Given the description of an element on the screen output the (x, y) to click on. 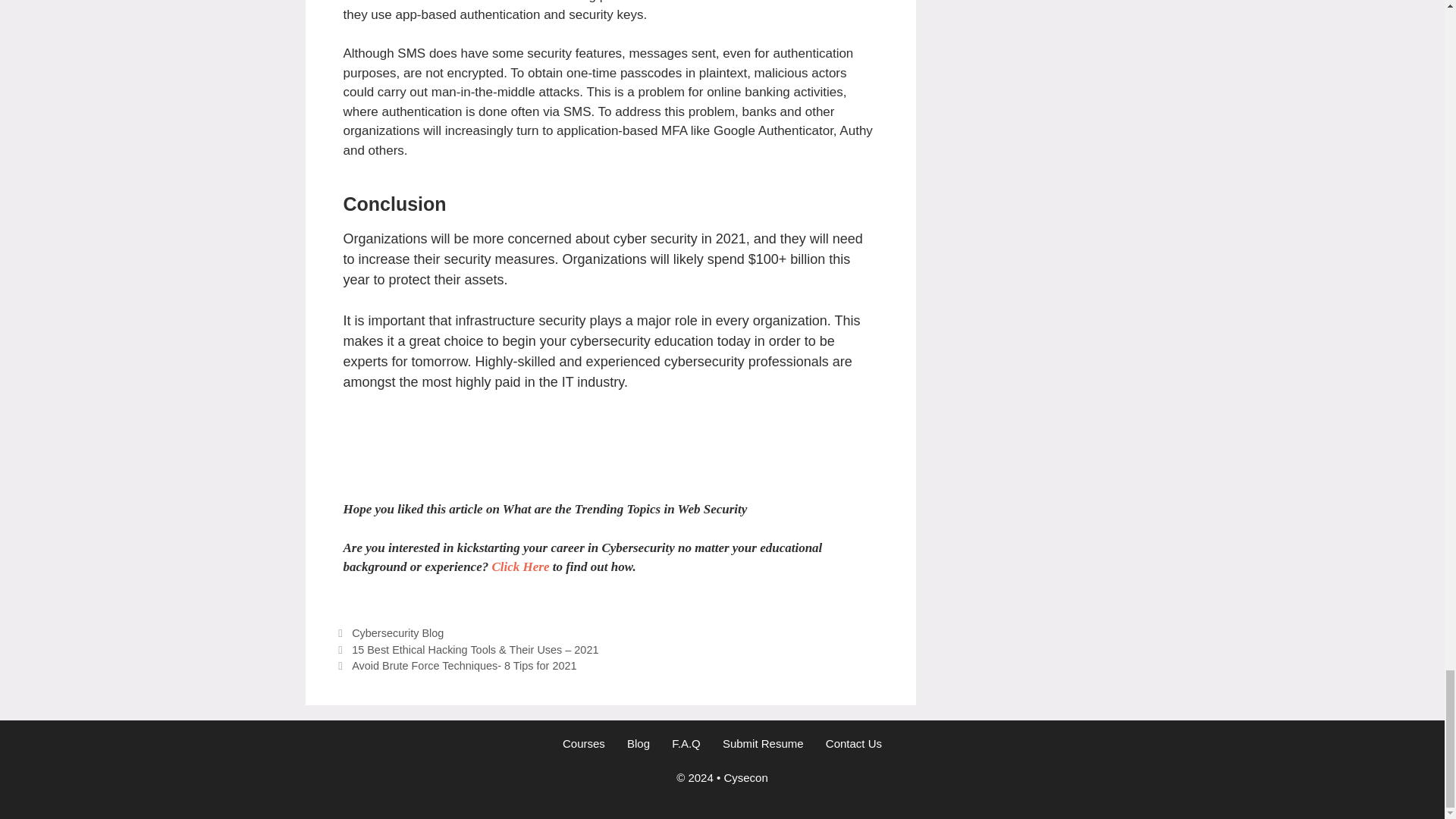
Avoid Brute Force Techniques- 8 Tips for 2021 (464, 665)
Cybersecurity Blog (398, 633)
Click Here (520, 566)
